Given the description of an element on the screen output the (x, y) to click on. 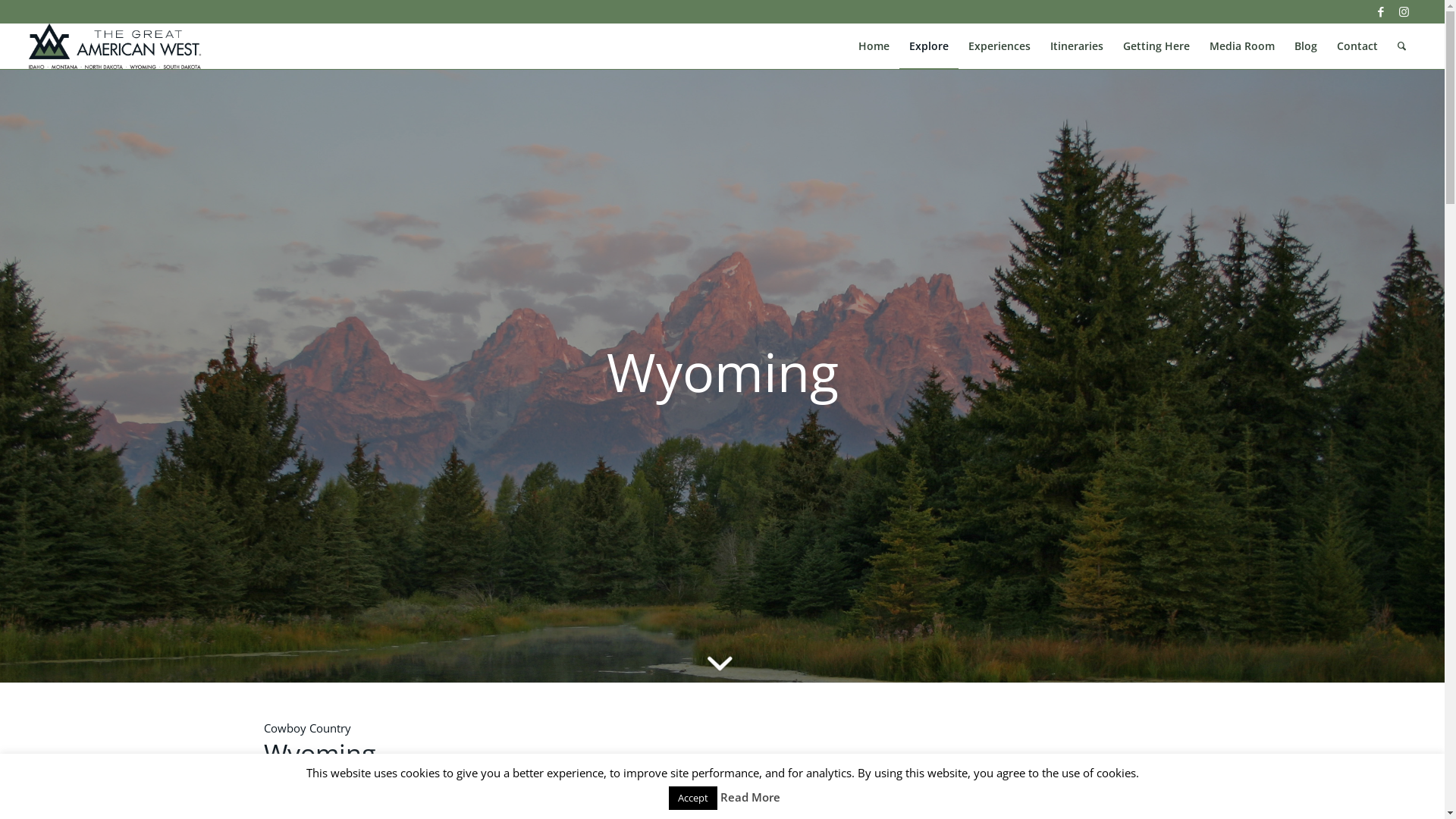
Instagram Element type: hover (1404, 11)
Contact Element type: text (1357, 46)
Explore Element type: text (928, 46)
Home Element type: text (873, 46)
Itineraries Element type: text (1076, 46)
Blog Element type: text (1305, 46)
Media Room Element type: text (1241, 46)
Accept Element type: text (692, 797)
Getting Here Element type: text (1156, 46)
Facebook Element type: hover (1381, 11)
Experiences Element type: text (999, 46)
Read More Element type: text (750, 796)
